Given the description of an element on the screen output the (x, y) to click on. 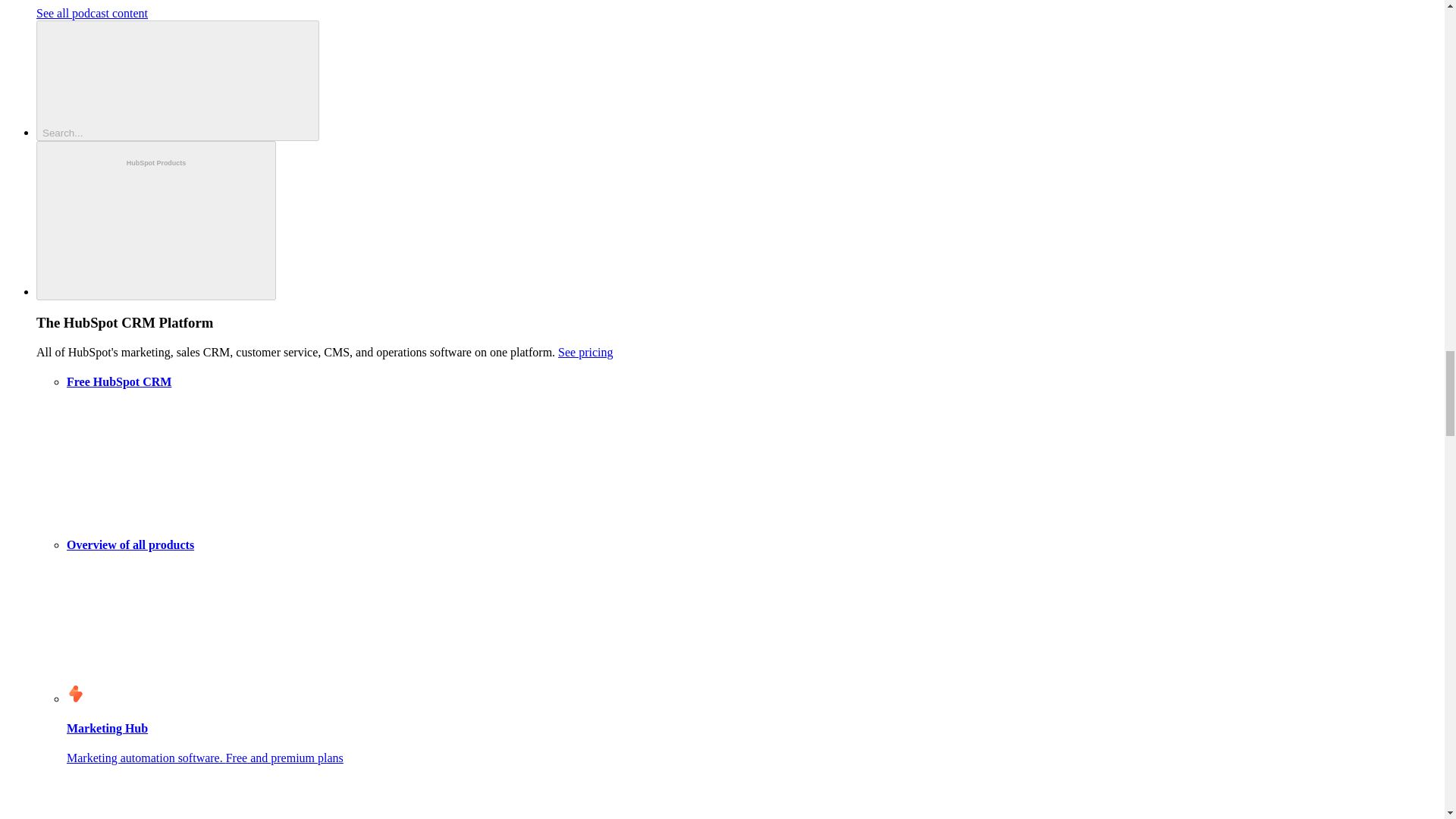
See pricing (584, 351)
See all podcast content (92, 12)
HubSpot Products (156, 220)
Search... (177, 80)
